Given the description of an element on the screen output the (x, y) to click on. 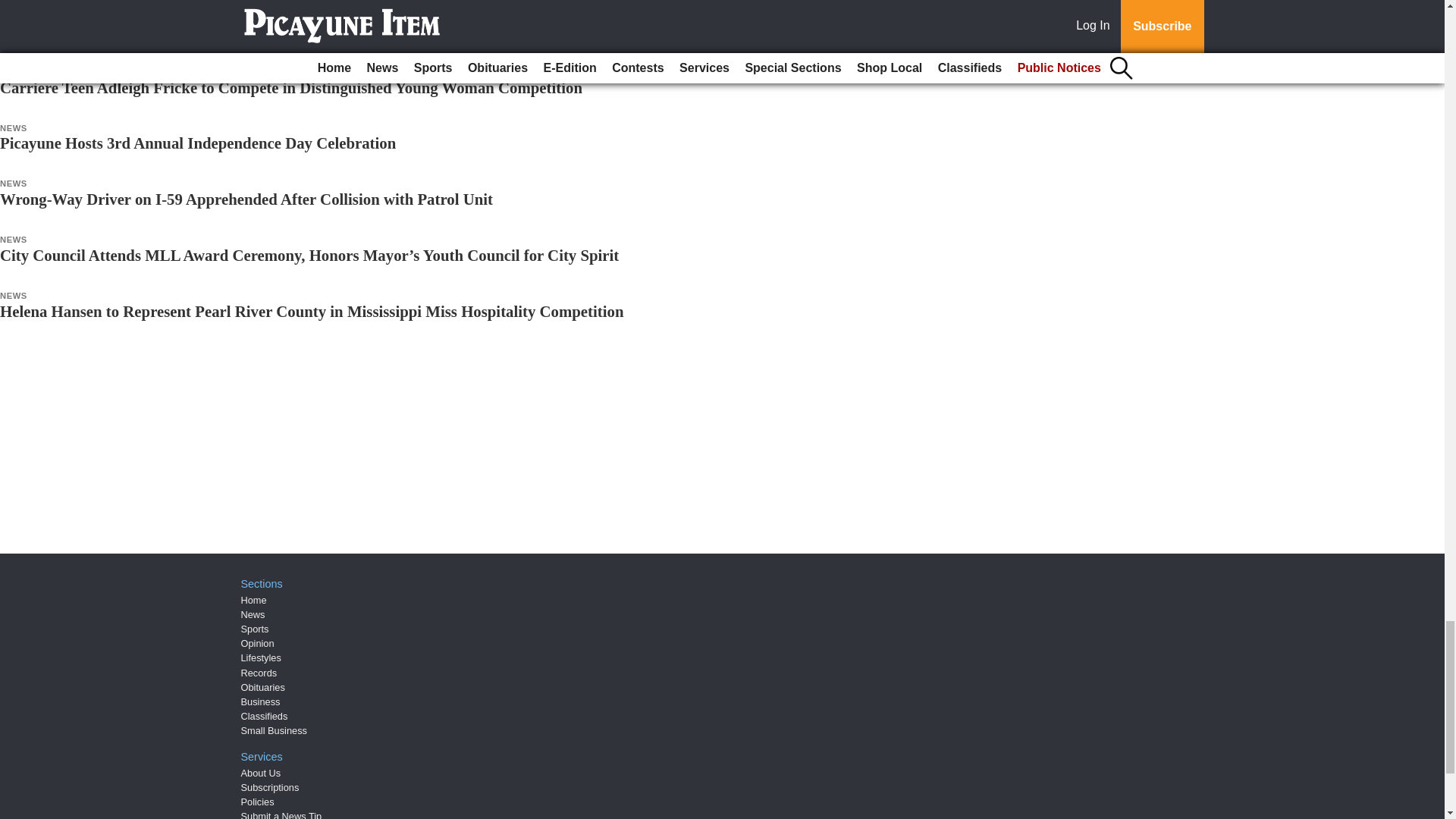
How a NASA Engineer Supports the Commercialization of Space (219, 31)
